Given the description of an element on the screen output the (x, y) to click on. 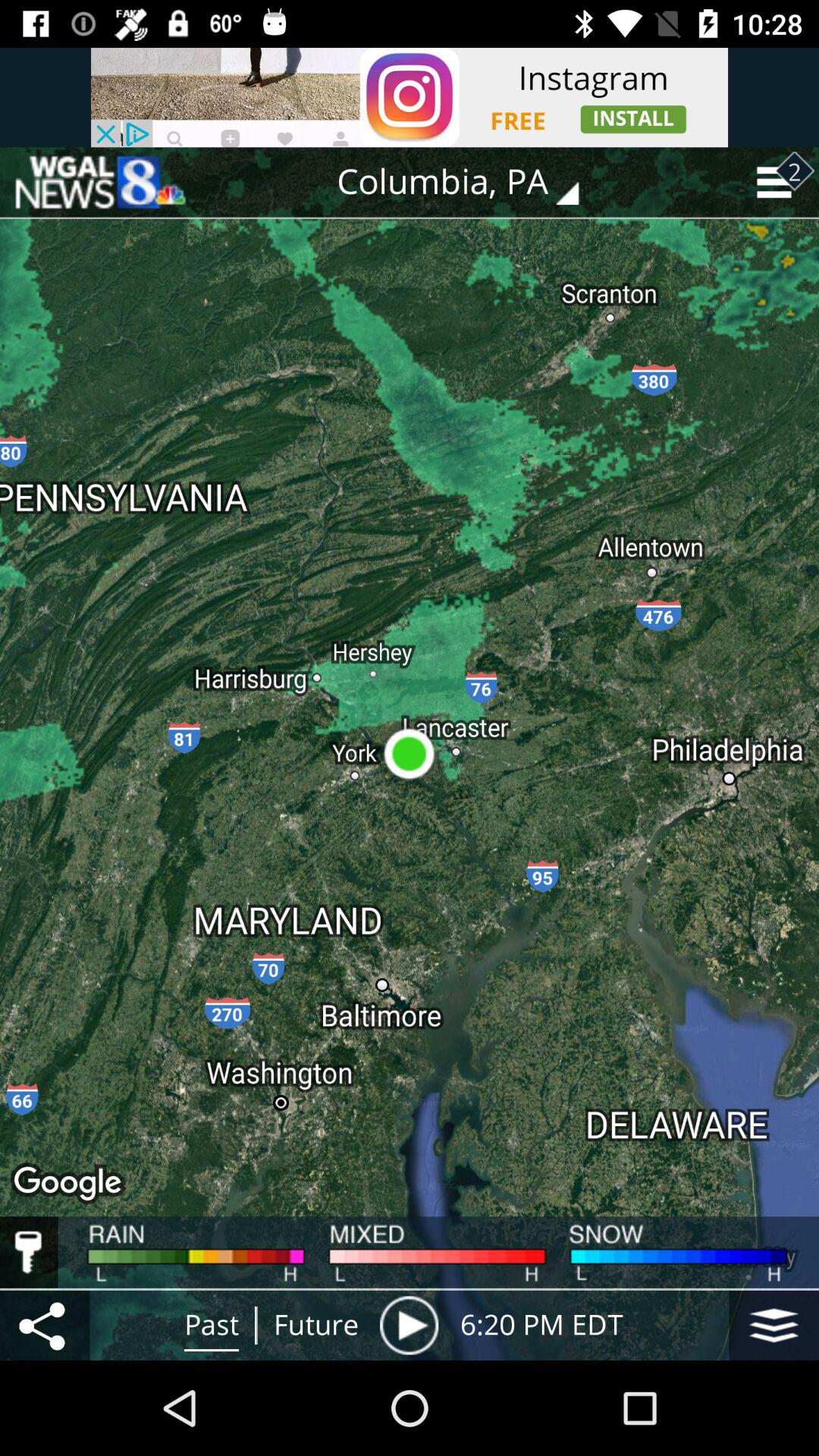
home page of site (99, 182)
